Given the description of an element on the screen output the (x, y) to click on. 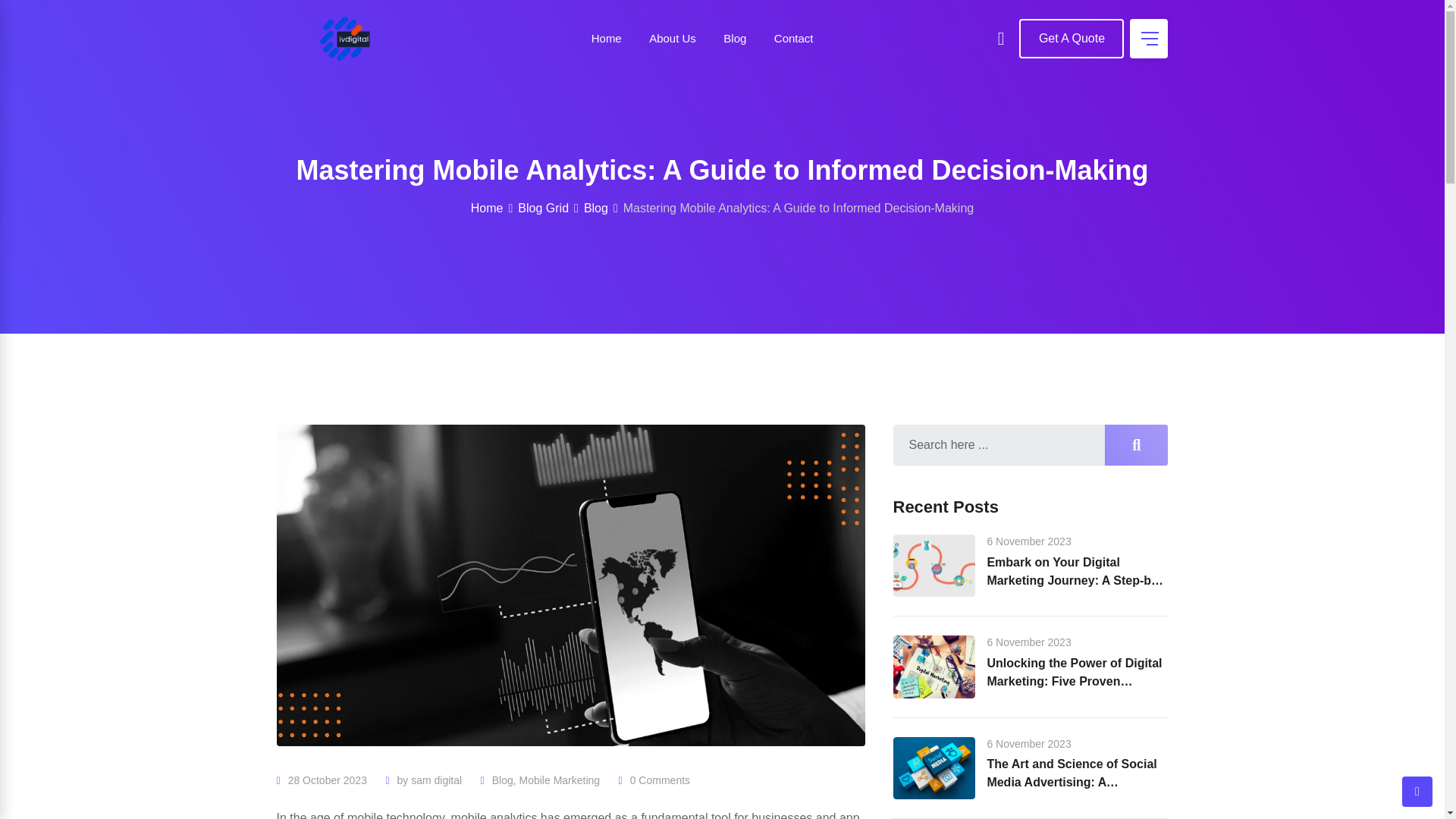
Get A Quote (1071, 38)
Go to the Blog category archives. (595, 207)
Go to Blog Grid. (543, 207)
Go to lvdigital. (486, 207)
Posts by sam digital (435, 779)
About Us (672, 38)
